Given the description of an element on the screen output the (x, y) to click on. 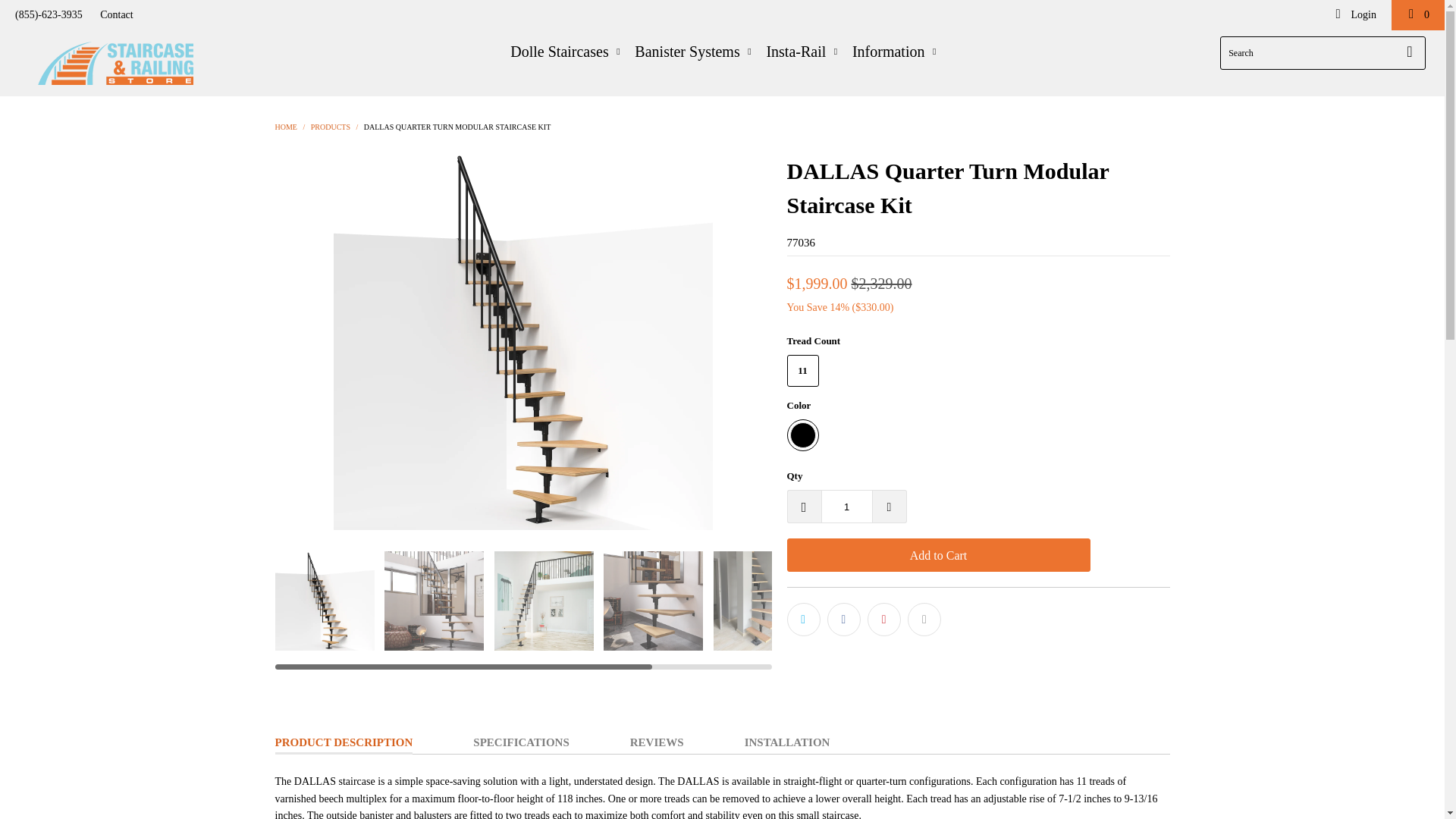
Share this on Facebook (843, 619)
My Account  (1354, 15)
Products (330, 126)
1 (846, 506)
Share this on Twitter (804, 619)
Share this on Pinterest (884, 619)
Email this to a friend (923, 619)
